Given the description of an element on the screen output the (x, y) to click on. 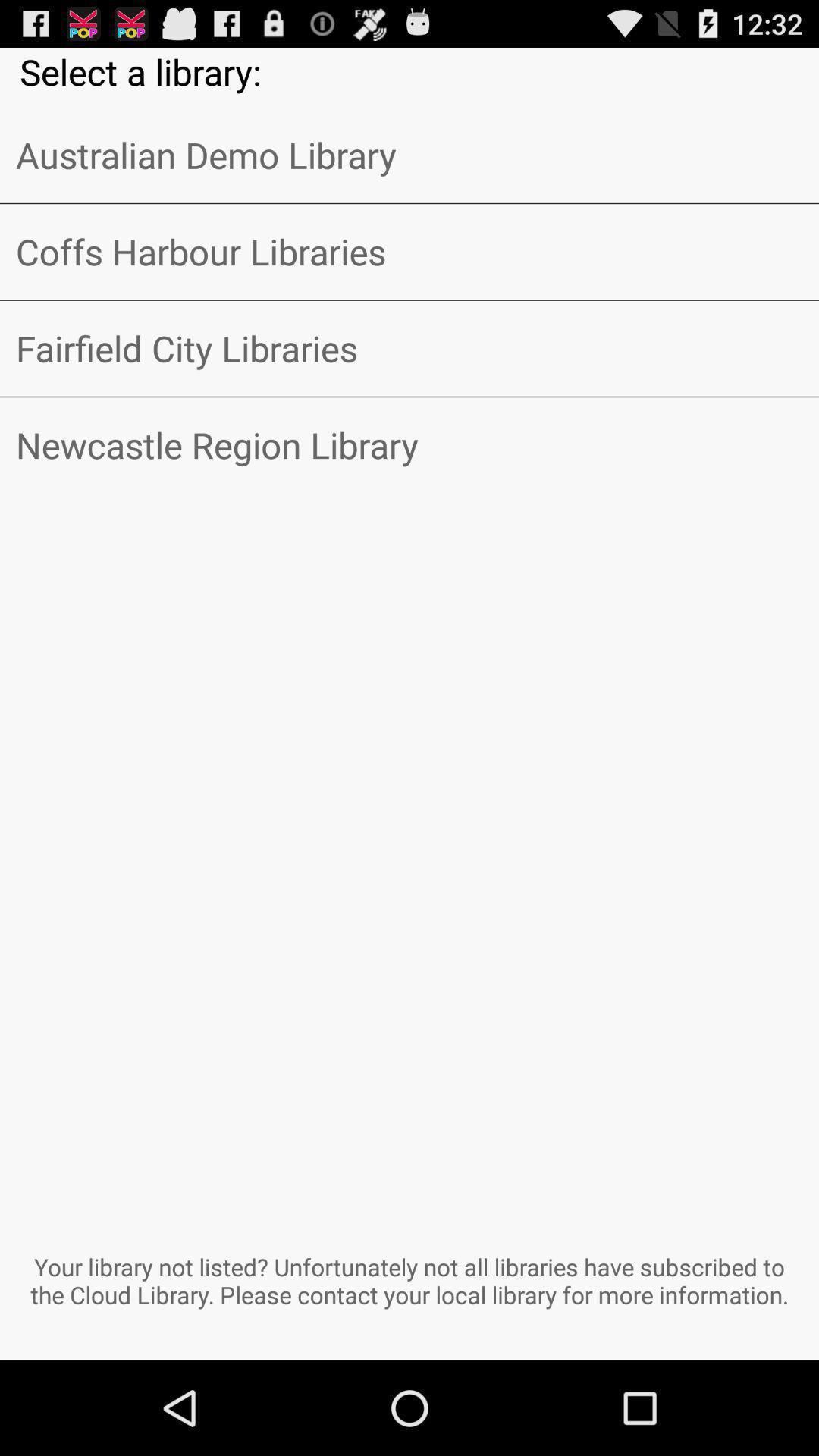
turn on the newcastle region library (409, 445)
